Given the description of an element on the screen output the (x, y) to click on. 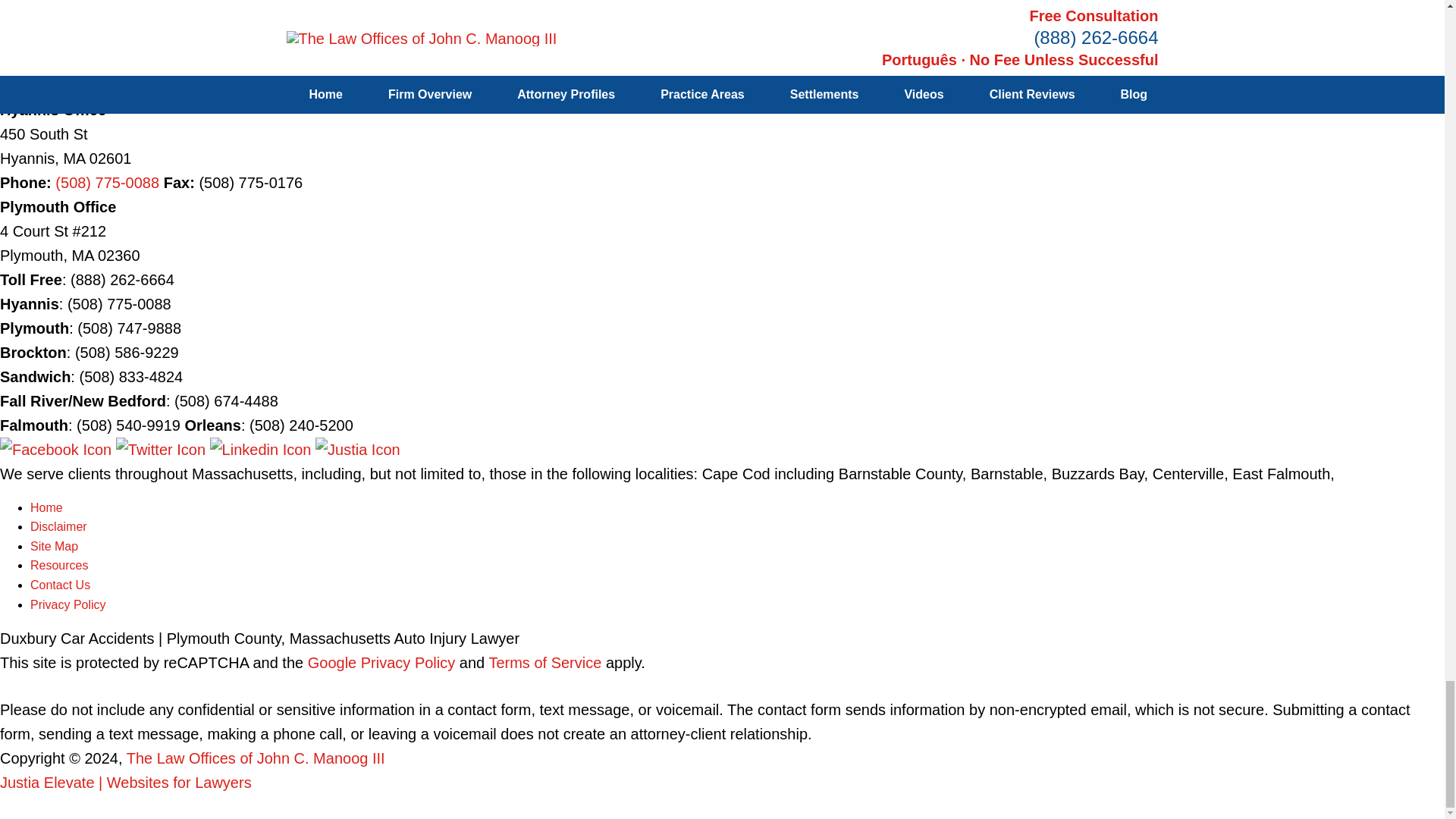
Linkedin (262, 449)
Facebook (58, 449)
Twitter (162, 449)
Justia (357, 449)
